Given the description of an element on the screen output the (x, y) to click on. 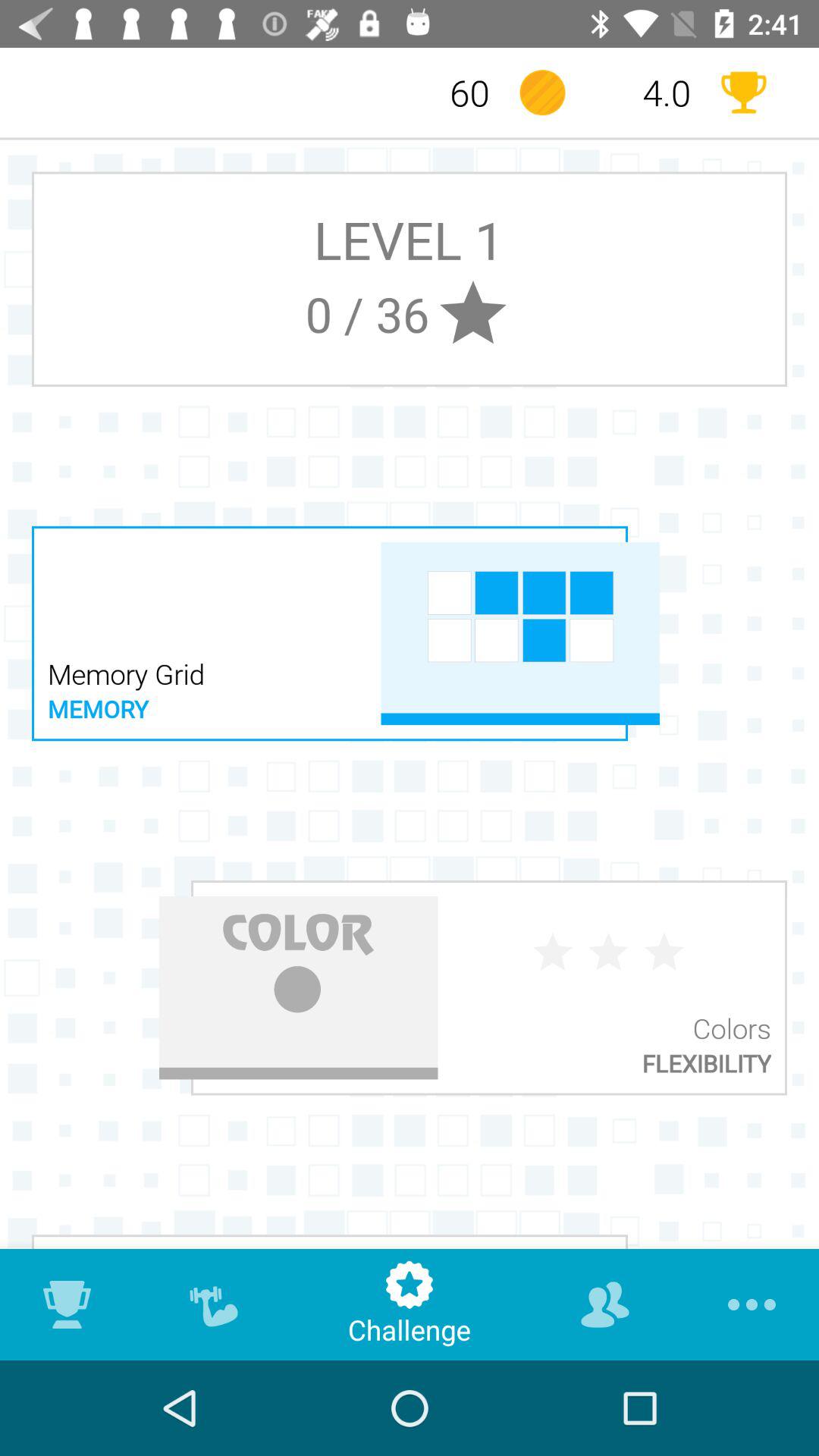
click on the first star in the row (553, 952)
click on the more icon which is at the bottom (748, 1304)
select star icon which is above challenge on page (409, 1278)
click on the text left to the top right corner icon (643, 93)
